Given the description of an element on the screen output the (x, y) to click on. 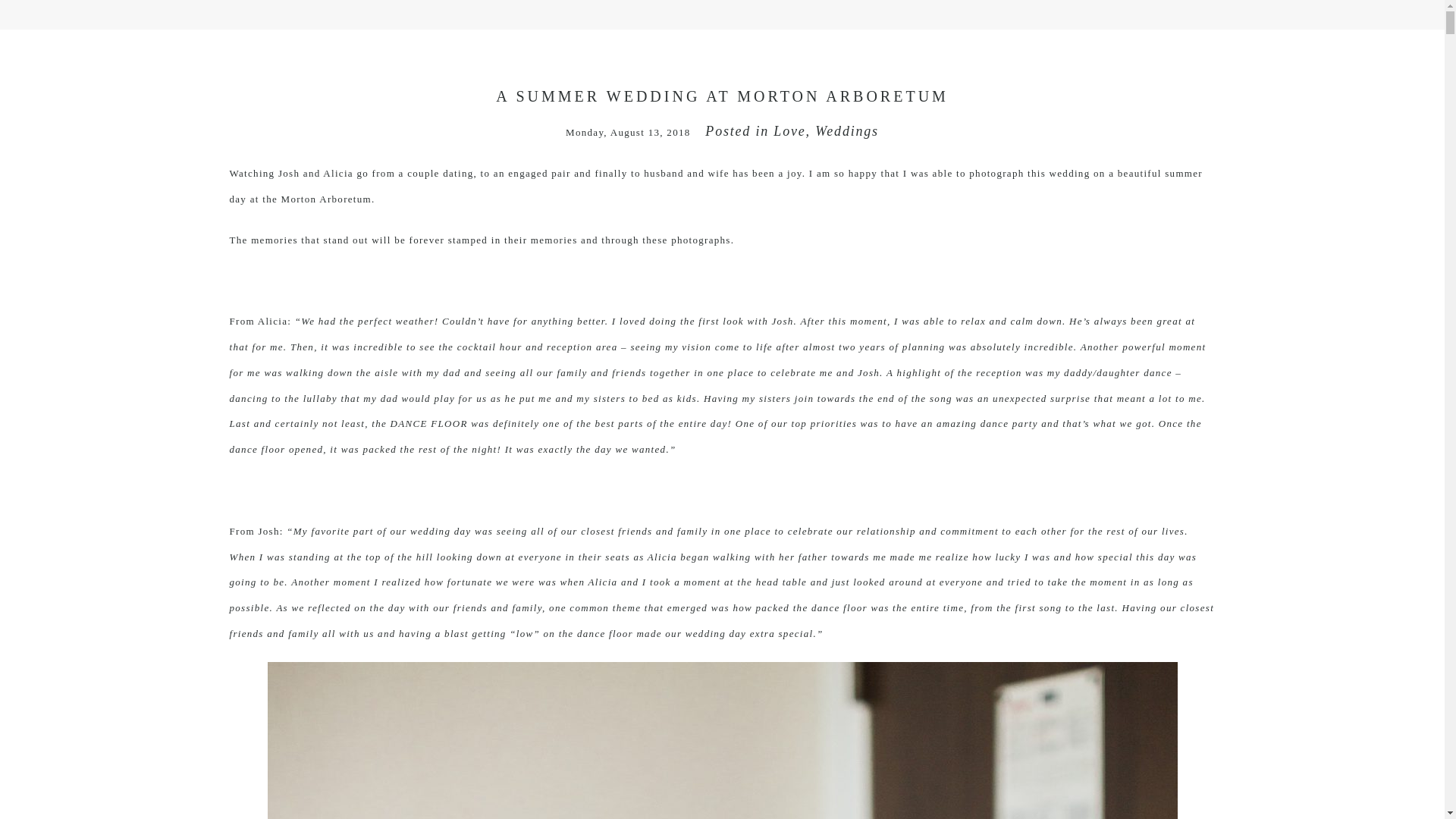
Weddings (847, 130)
Love (789, 130)
